Given the description of an element on the screen output the (x, y) to click on. 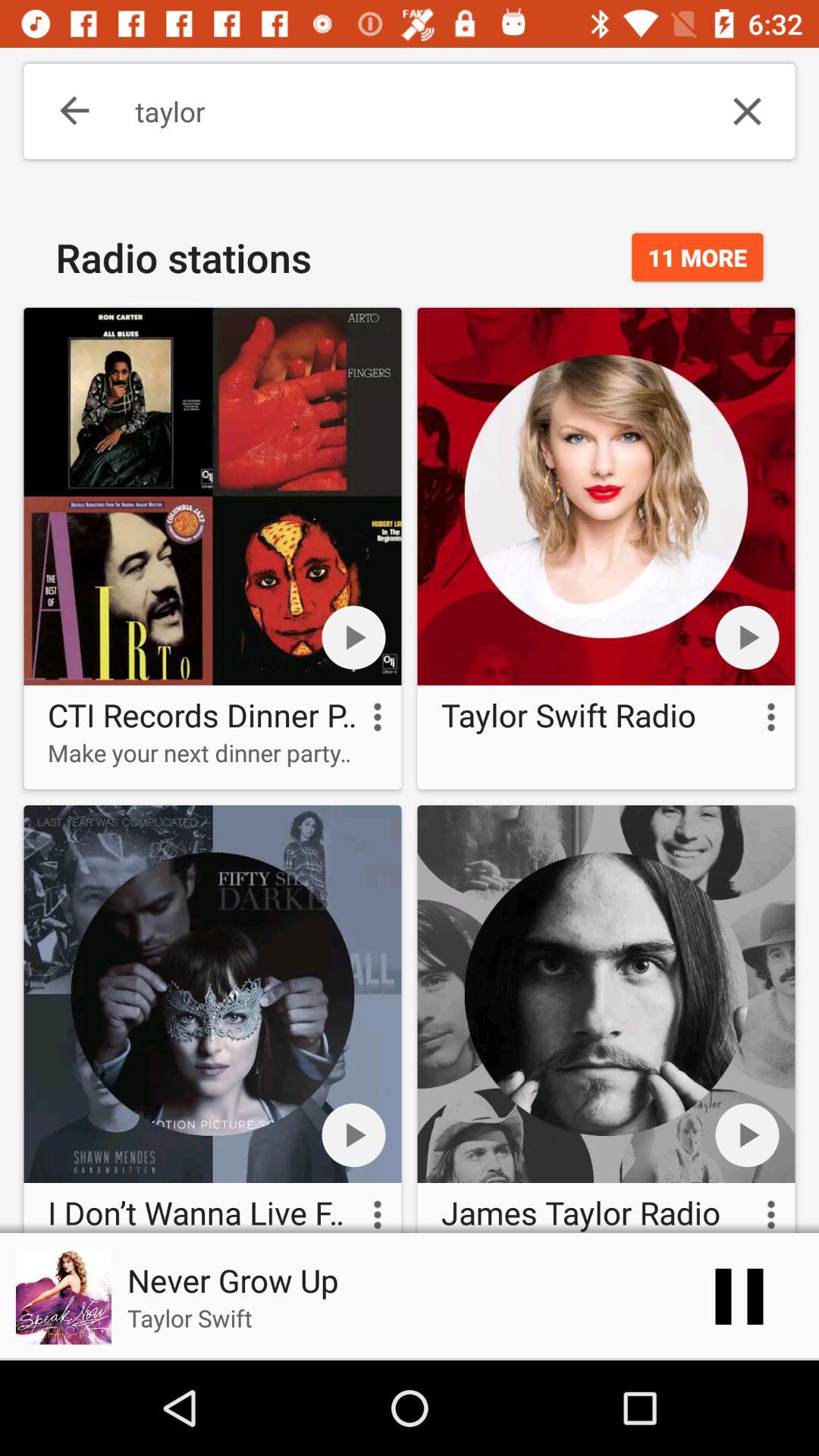
select icon to the right of the radio stations icon (697, 257)
